Given the description of an element on the screen output the (x, y) to click on. 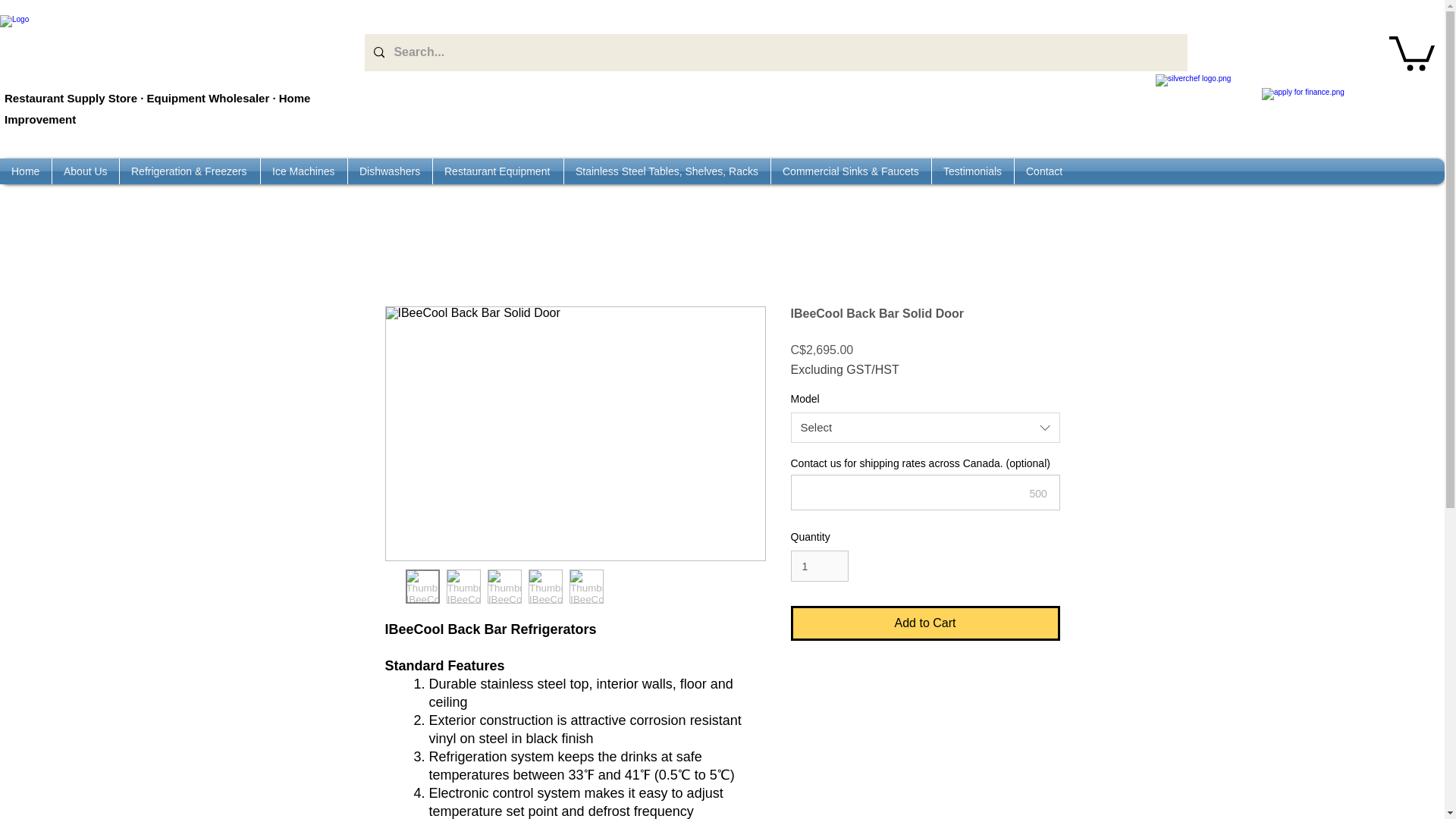
About Us (85, 171)
Dishwashers (389, 171)
Ice Machines (303, 171)
1 (818, 565)
Home (25, 171)
